Given the description of an element on the screen output the (x, y) to click on. 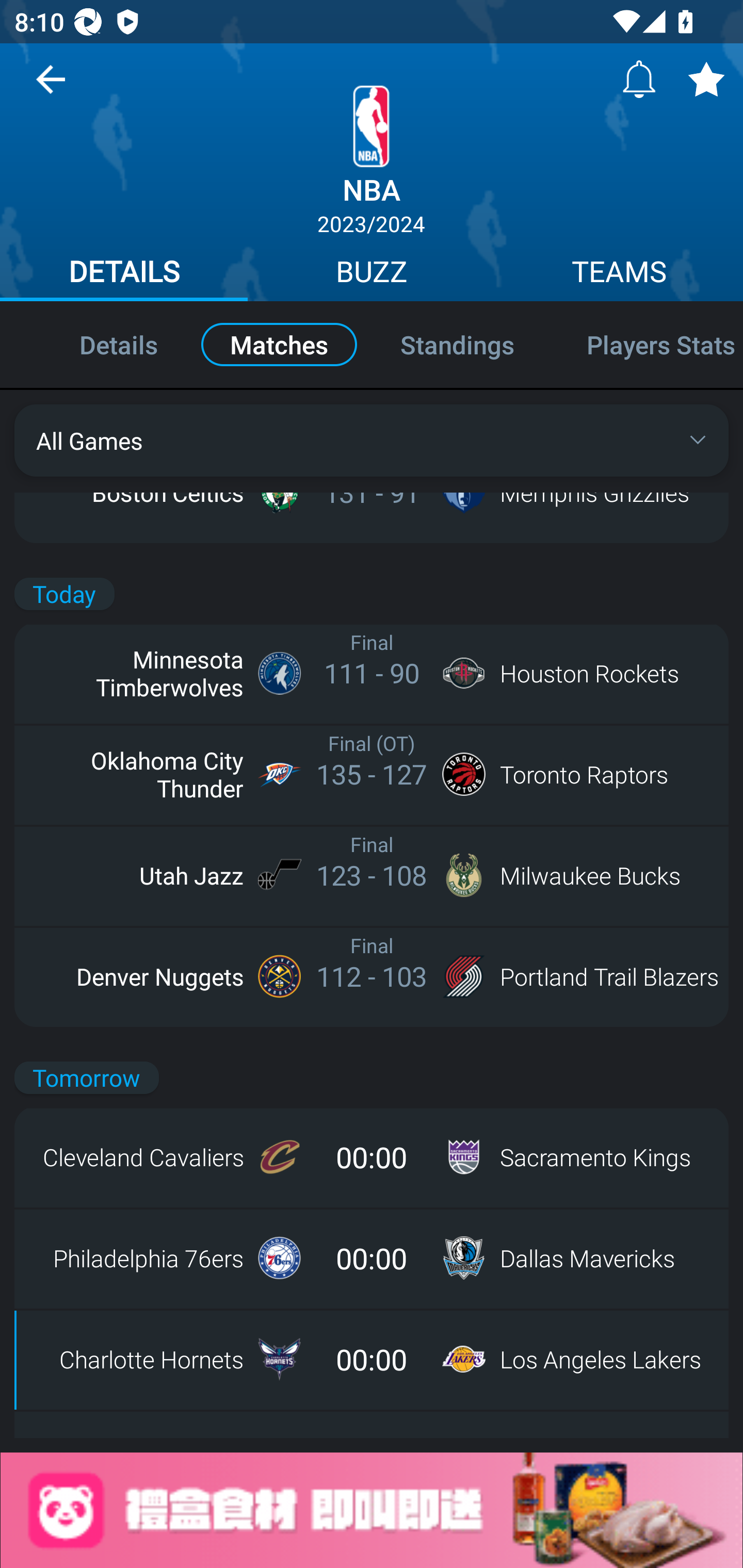
Navigate up (50, 86)
DETAILS (123, 274)
BUZZ (371, 274)
TEAMS (619, 274)
Details (96, 344)
Standings (457, 344)
Players Stats (646, 344)
All Games (371, 440)
Utah Jazz Final 123 - 108 Milwaukee Bucks (371, 874)
Cleveland Cavaliers 00:00 Sacramento Kings (371, 1157)
Philadelphia 76ers 00:00 Dallas Mavericks (371, 1258)
Charlotte Hornets 00:00 Los Angeles Lakers (371, 1359)
Advertisement (371, 1509)
